Given the description of an element on the screen output the (x, y) to click on. 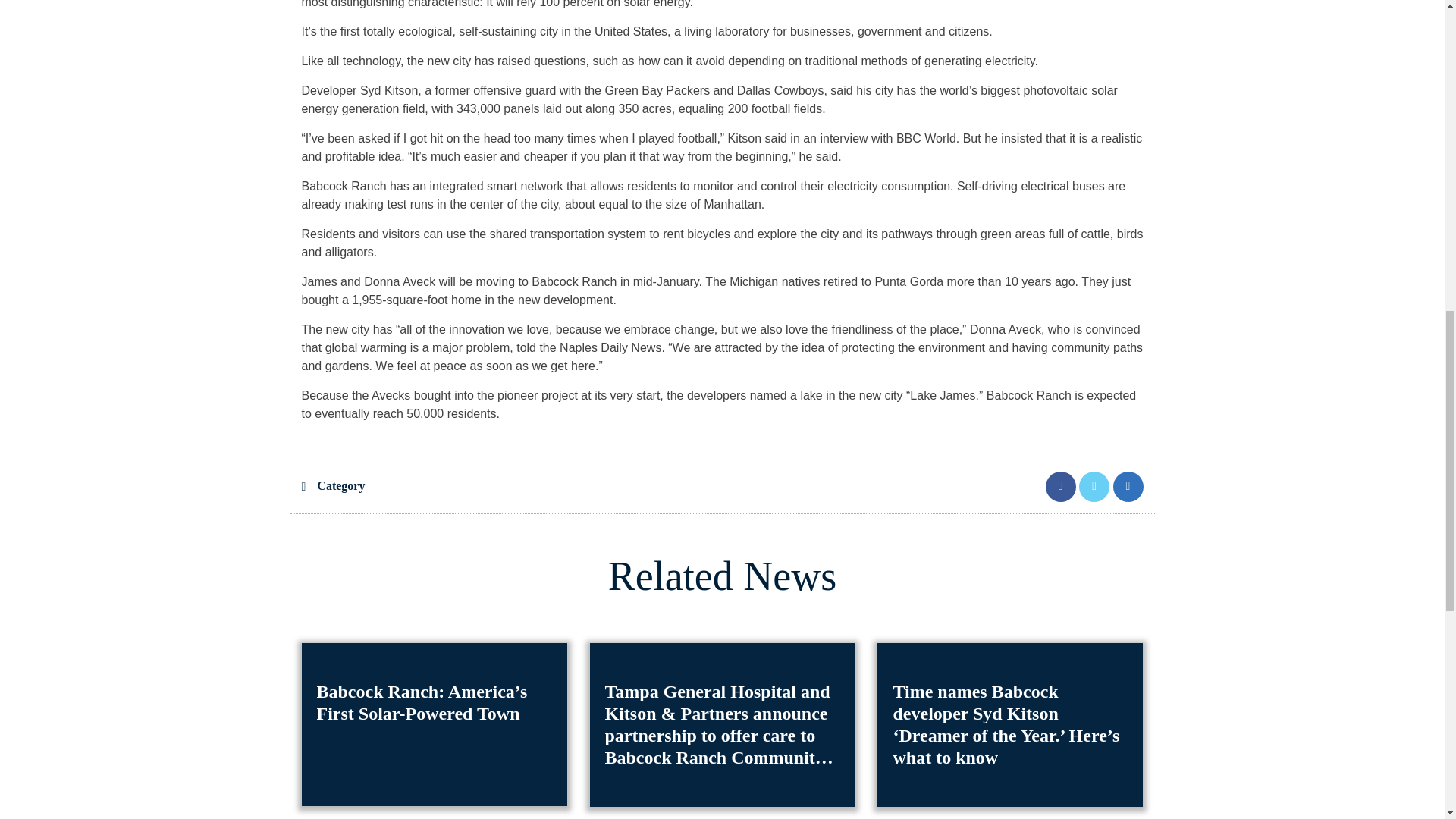
Facebook Share (1061, 485)
Linkedin Share (1127, 485)
Twitter Share (1095, 485)
